Given the description of an element on the screen output the (x, y) to click on. 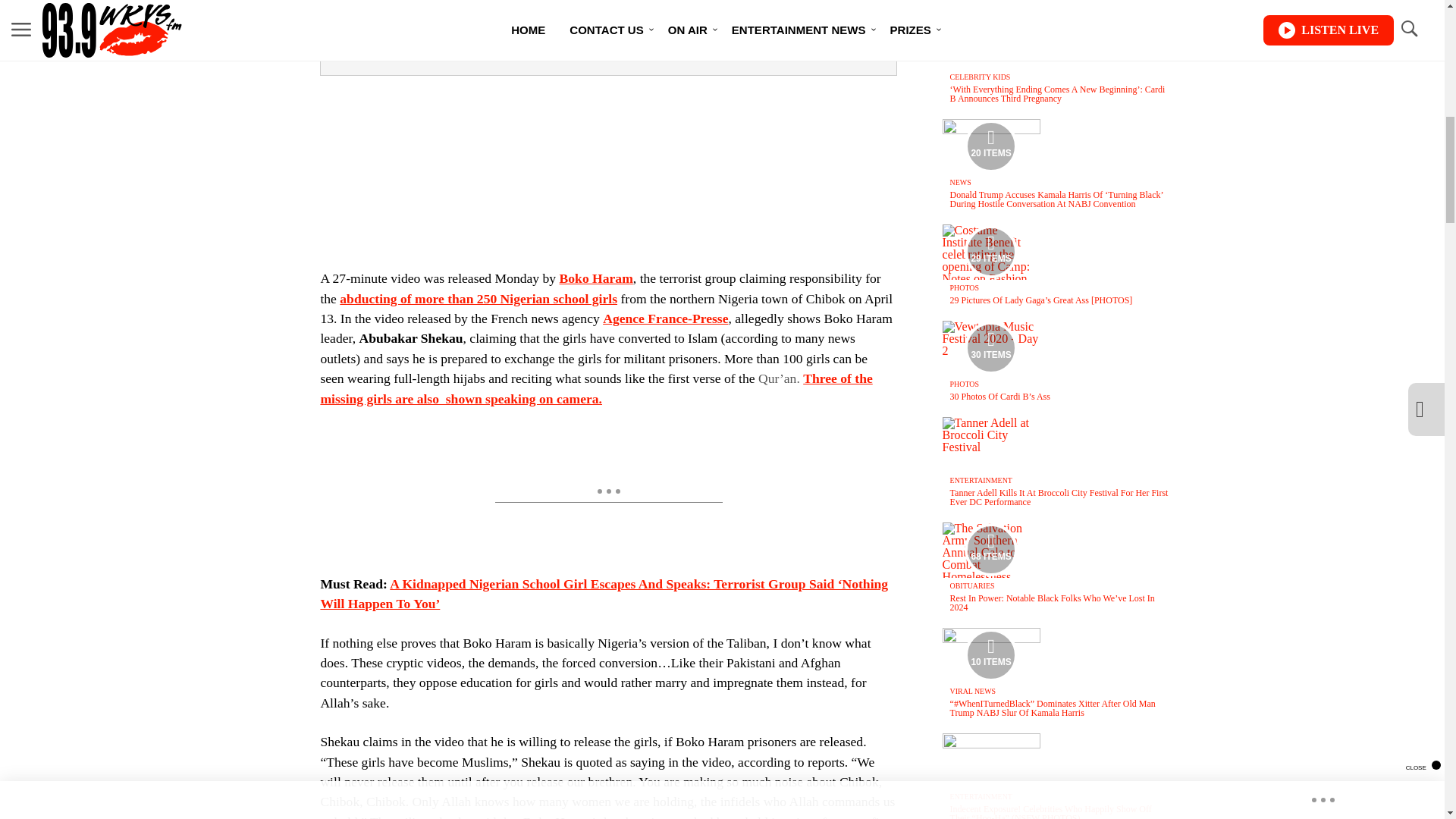
Media Playlist (990, 654)
Names Of The Abducted Nigerian Girls Released (478, 298)
Agence France-Presse (665, 318)
Media Playlist (990, 145)
Media Playlist (990, 549)
abducting of more than 250 Nigerian school girls (478, 298)
Media Playlist (990, 347)
Boko Haram (596, 278)
Media Playlist (990, 251)
